Given the description of an element on the screen output the (x, y) to click on. 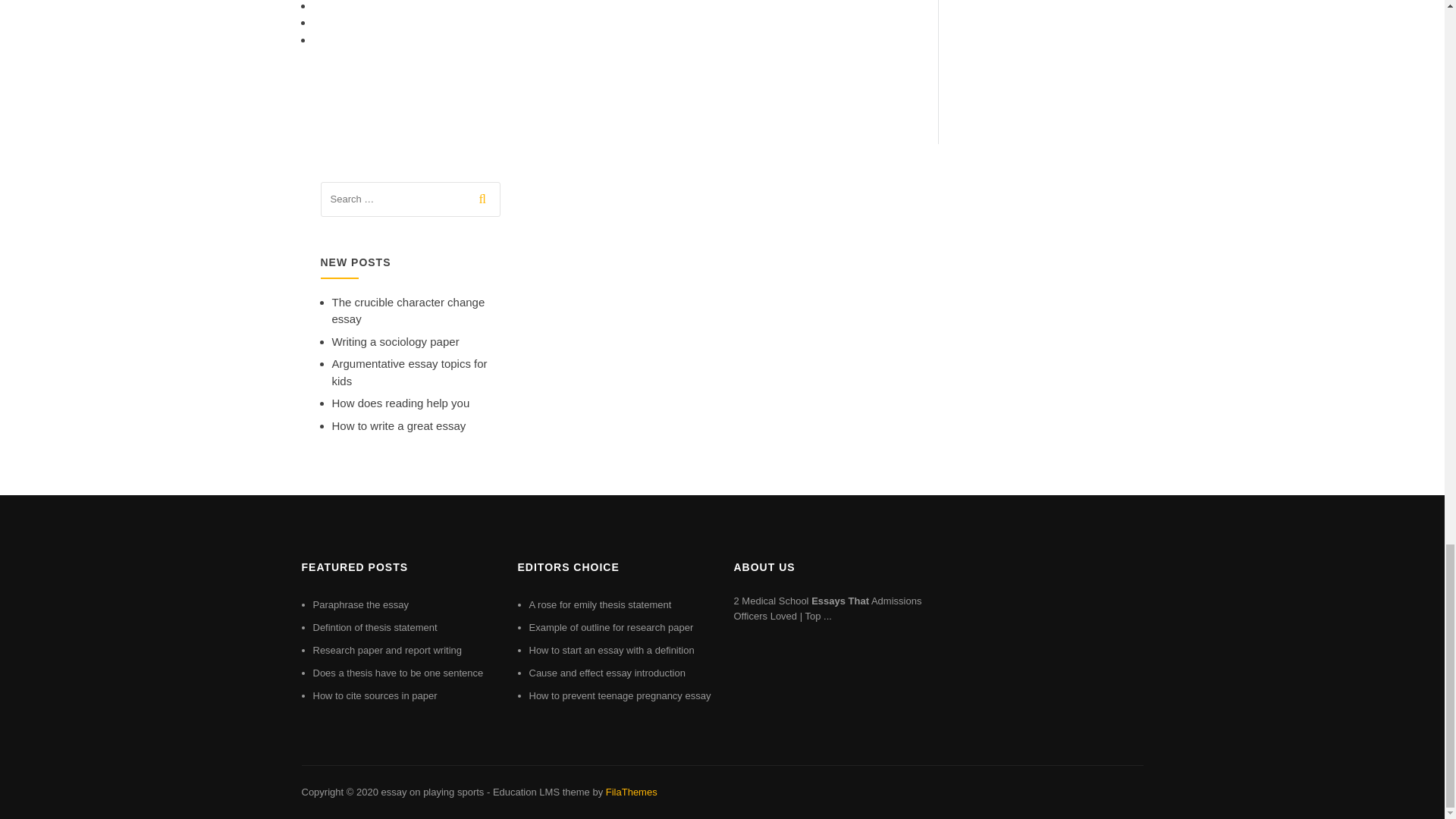
Argumentative essay topics for kids (409, 372)
How does reading help you (400, 402)
essay on playing sports (431, 791)
A rose for emily thesis statement (600, 604)
How to cite sources in paper (374, 695)
Research paper and report writing (387, 650)
How to start an essay with a definition (611, 650)
Example of outline for research paper (611, 627)
How to write a great essay (398, 425)
Does a thesis have to be one sentence (398, 672)
Cause and effect essay introduction (607, 672)
Defintion of thesis statement (374, 627)
How to prevent teenage pregnancy essay (620, 695)
Paraphrase the essay (360, 604)
The crucible character change essay (407, 310)
